Given the description of an element on the screen output the (x, y) to click on. 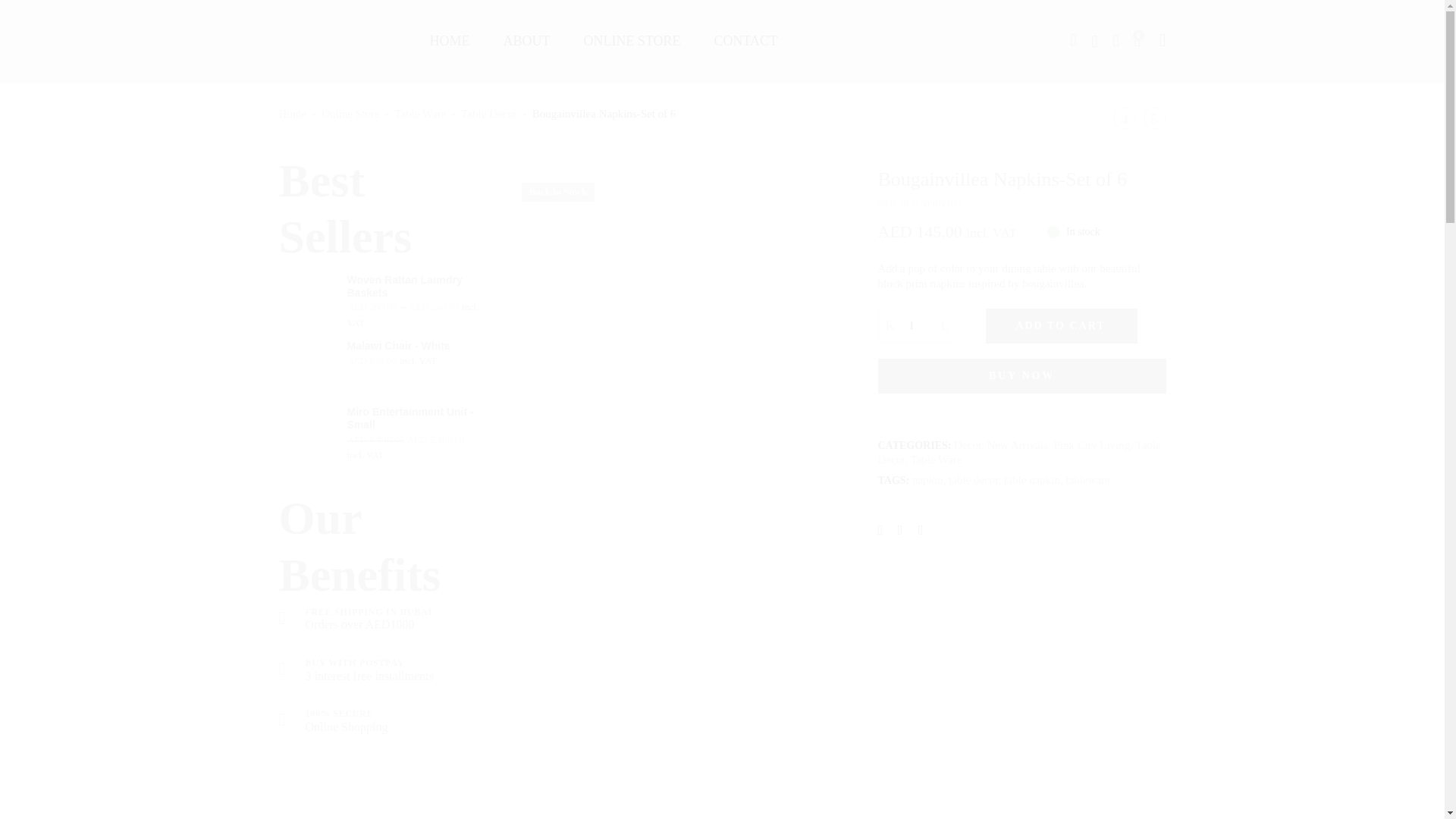
HOME (448, 41)
1 (917, 326)
ONLINE STORE (631, 41)
Qty (917, 326)
ABOUT (526, 41)
